Given the description of an element on the screen output the (x, y) to click on. 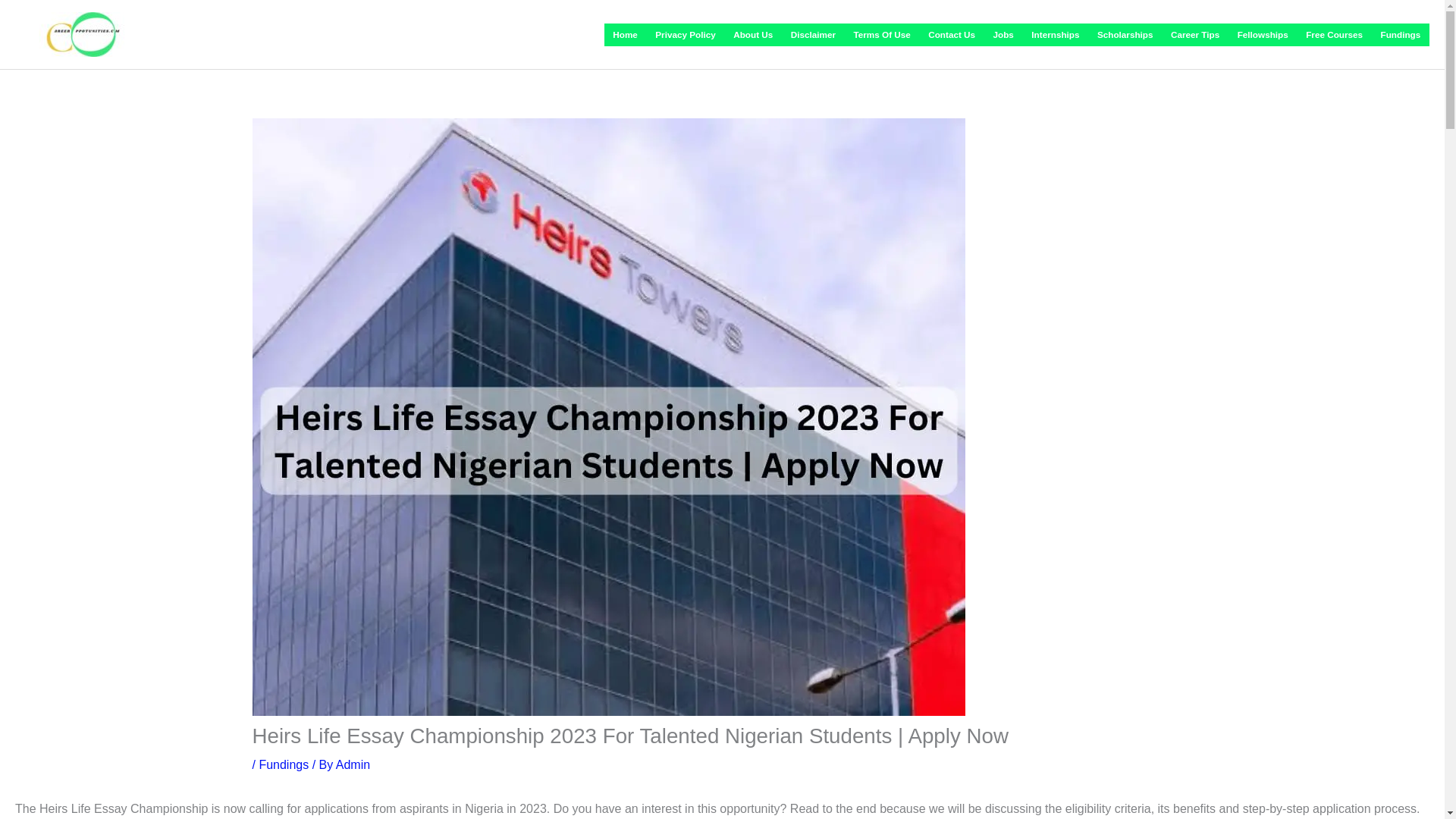
Career Tips (1194, 34)
Fellowships (1262, 34)
Admin (352, 764)
Fundings (1400, 34)
Disclaimer (812, 34)
View all posts by Admin (352, 764)
Fundings (283, 764)
Free Courses (1334, 34)
Privacy Policy (685, 34)
Scholarships (1124, 34)
Internships (1056, 34)
Contact Us (952, 34)
Jobs (1003, 34)
About Us (754, 34)
Terms Of Use (882, 34)
